Given the description of an element on the screen output the (x, y) to click on. 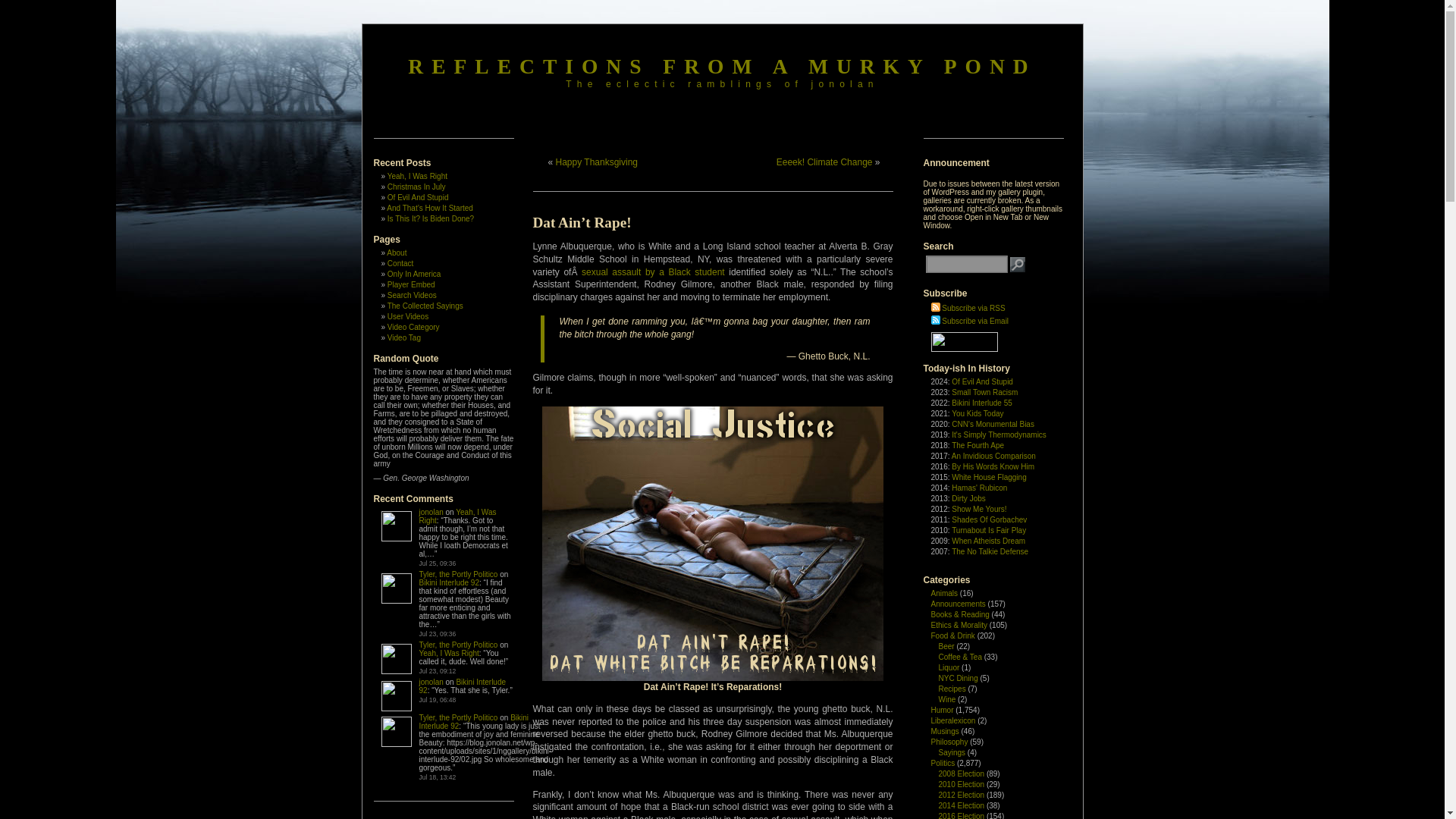
Bikini Interlude 92 (462, 686)
Search Videos (411, 295)
Only In America (414, 274)
Video Tag (403, 337)
jonolan (430, 682)
Contact (400, 263)
User Videos (407, 316)
Eeeek! Climate Change (824, 162)
Tyler, the Portly Politico (458, 717)
Of Evil And Stupid (417, 197)
Tyler, the Portly Politico (458, 644)
Video Category (413, 326)
Yeah, I Was Right (457, 515)
sexual assault by a Black student (652, 271)
REFLECTIONS FROM A MURKY POND (721, 65)
